Given the description of an element on the screen output the (x, y) to click on. 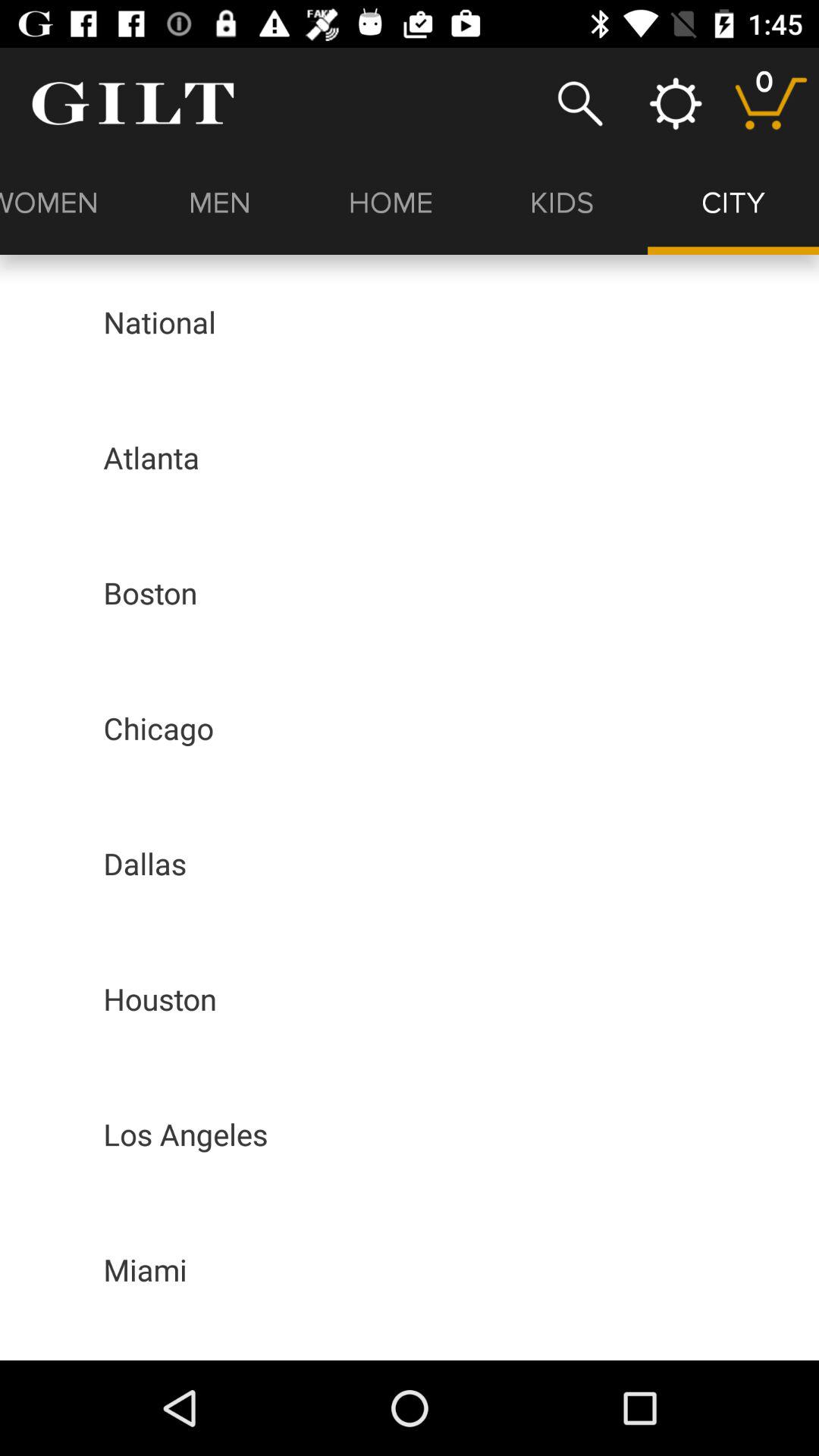
tap app below houston app (185, 1134)
